Given the description of an element on the screen output the (x, y) to click on. 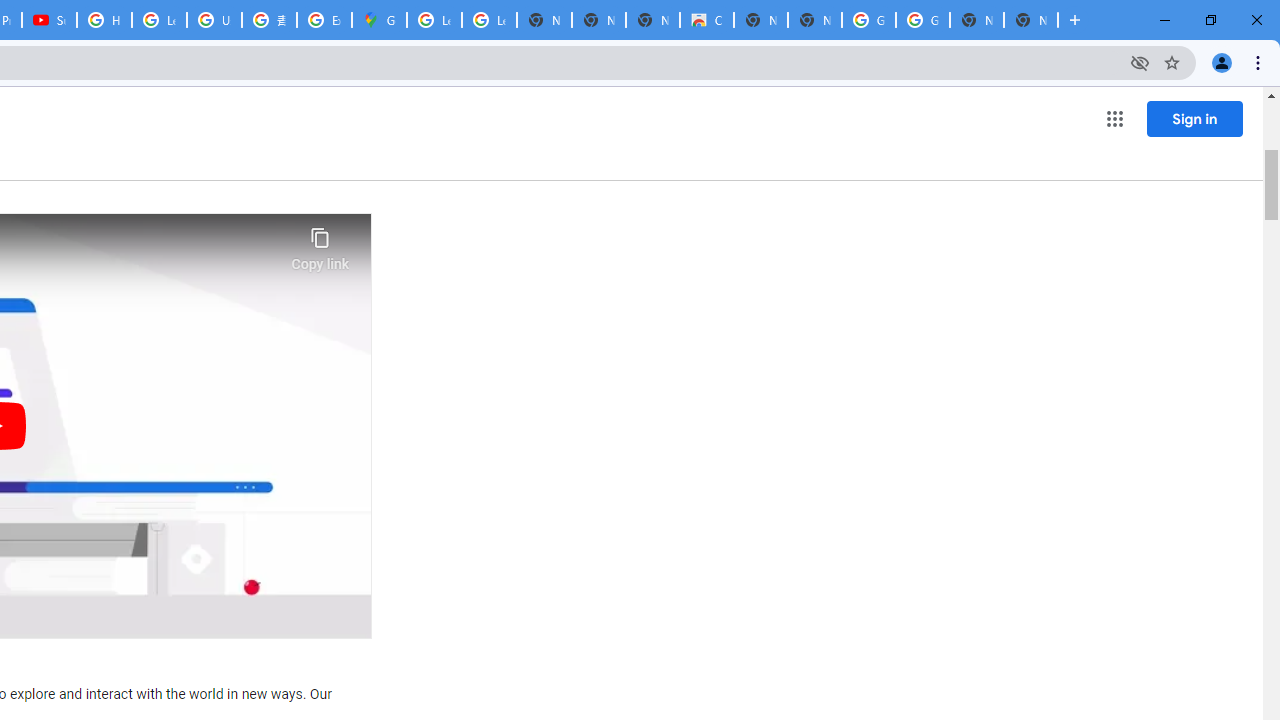
Minimize (1165, 20)
Google Images (922, 20)
Copy link (319, 244)
Third-party cookies blocked (1139, 62)
Explore new street-level details - Google Maps Help (324, 20)
Chrome Web Store (706, 20)
Google Images (868, 20)
